Given the description of an element on the screen output the (x, y) to click on. 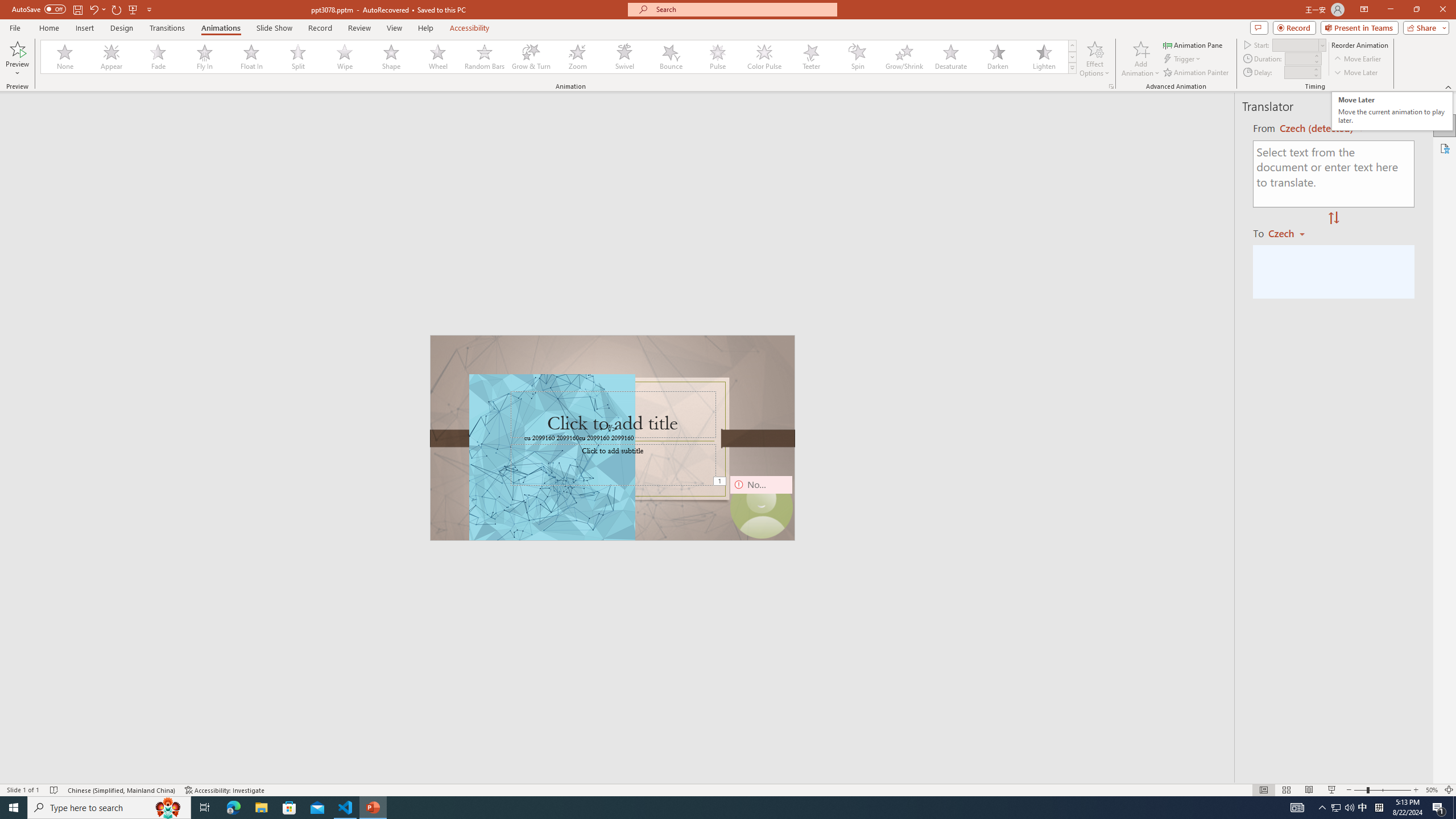
Animation Styles (1071, 67)
Title TextBox (613, 414)
Wheel (437, 56)
An abstract genetic concept (612, 437)
Czech (detected) (1317, 128)
